Given the description of an element on the screen output the (x, y) to click on. 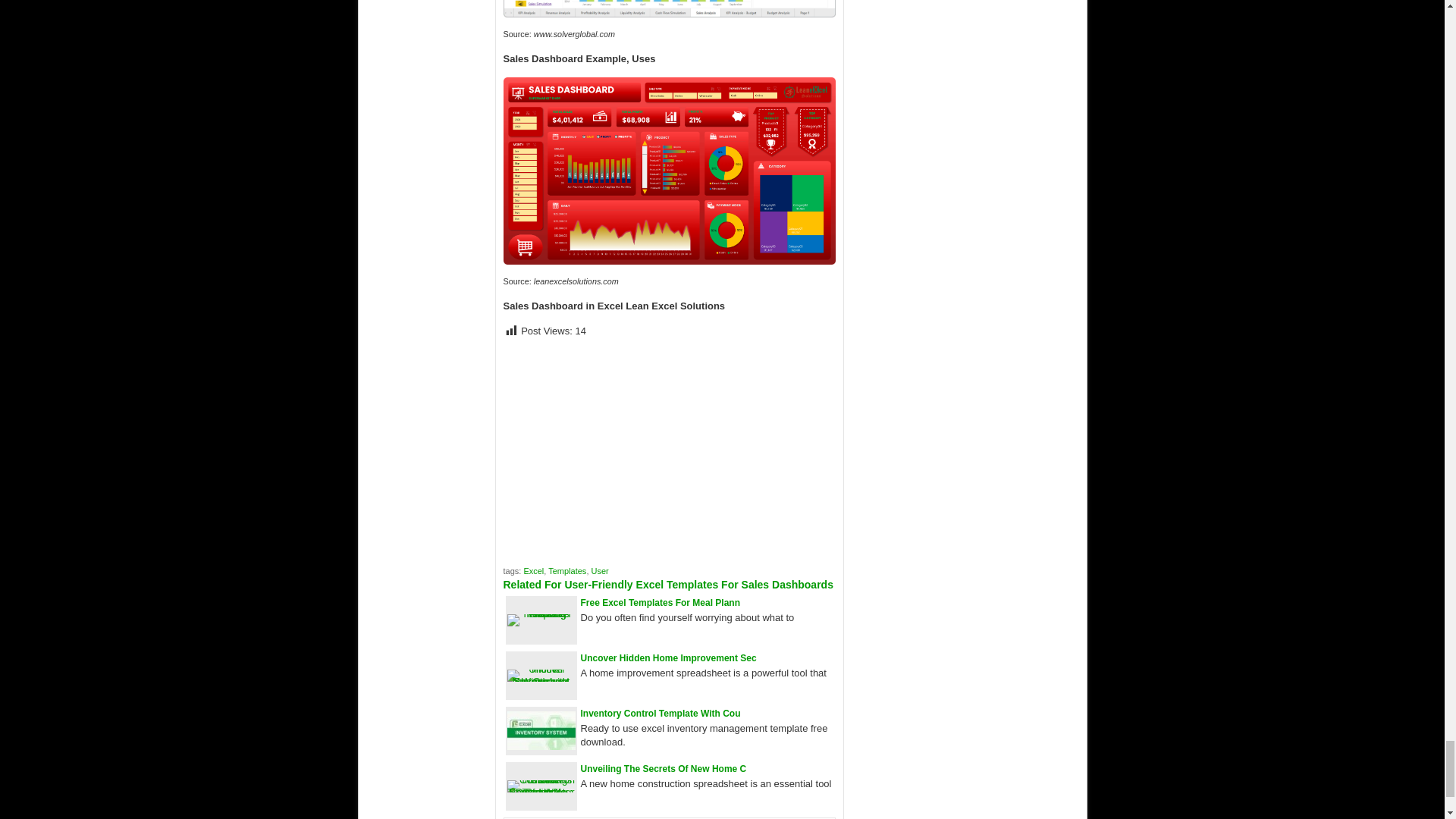
Free Excel Templates For Meal Plann (660, 602)
User (599, 570)
Uncover Hidden Home Improvement Sec (668, 657)
Free Excel Templates for Meal Planning and Tracking (540, 613)
Inventory Control Template With Cou (660, 713)
Excel (532, 570)
Free Excel Templates for Meal Planning and Tracking (660, 602)
